Given the description of an element on the screen output the (x, y) to click on. 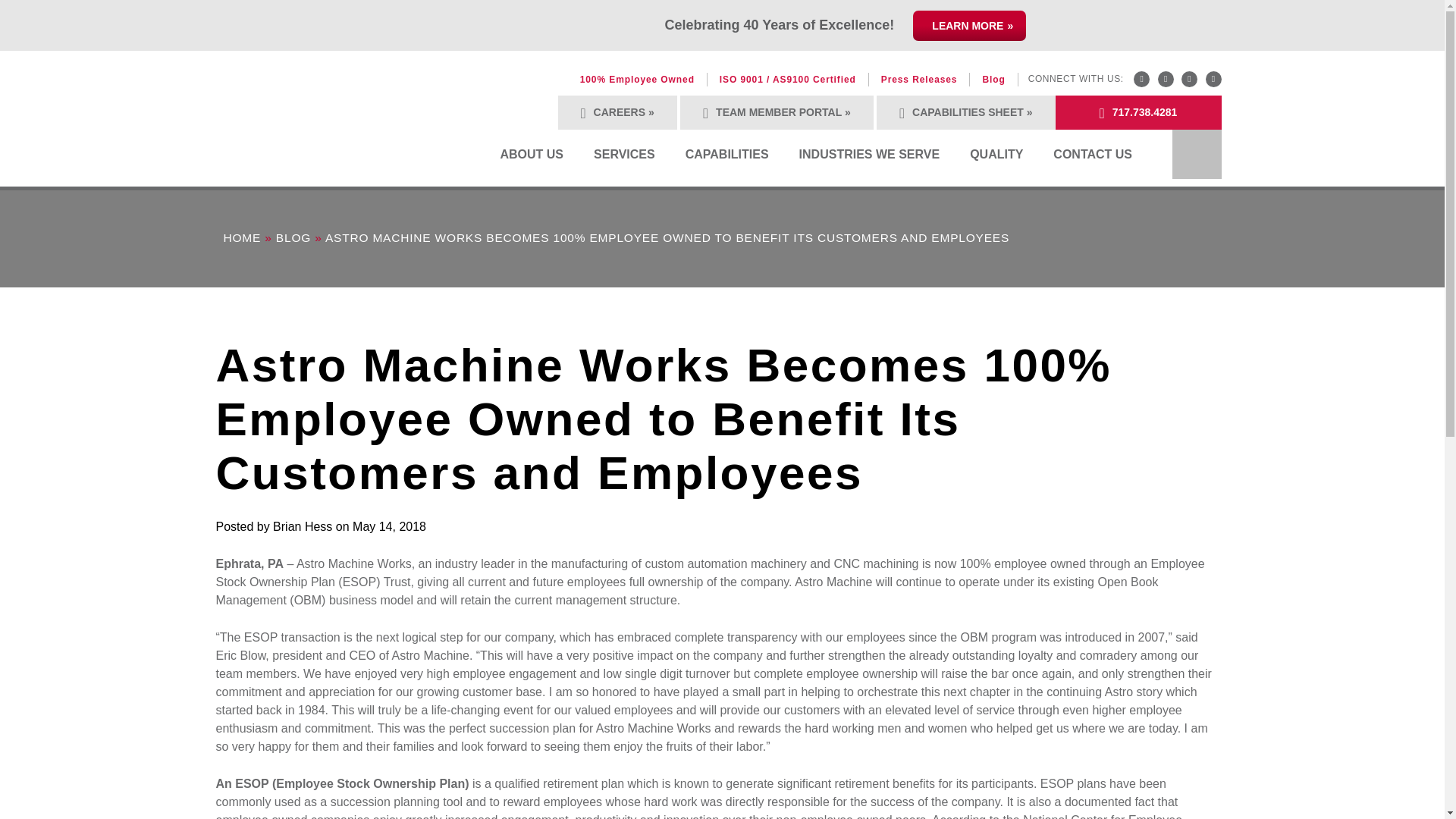
717.738.4281 (1138, 112)
Press Releases (919, 79)
LEARN MORE (969, 25)
ABOUT US (531, 154)
Blog (992, 79)
SERVICES (623, 154)
